Given the description of an element on the screen output the (x, y) to click on. 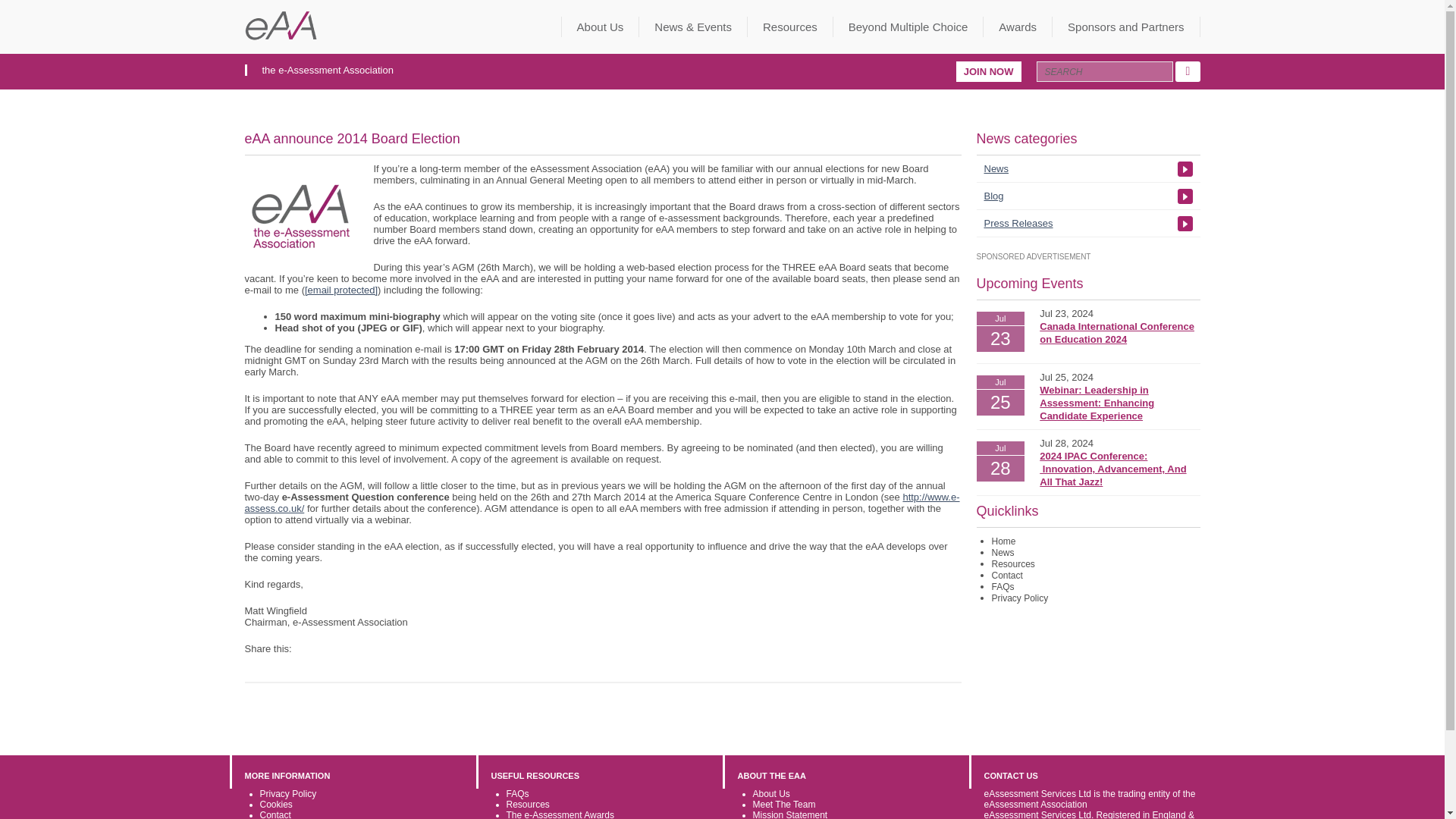
Resources (790, 26)
JOIN NOW (989, 71)
Awards (1018, 26)
About Us (600, 26)
Beyond Multiple Choice (908, 26)
Sponsors and Partners (1125, 26)
